Given the description of an element on the screen output the (x, y) to click on. 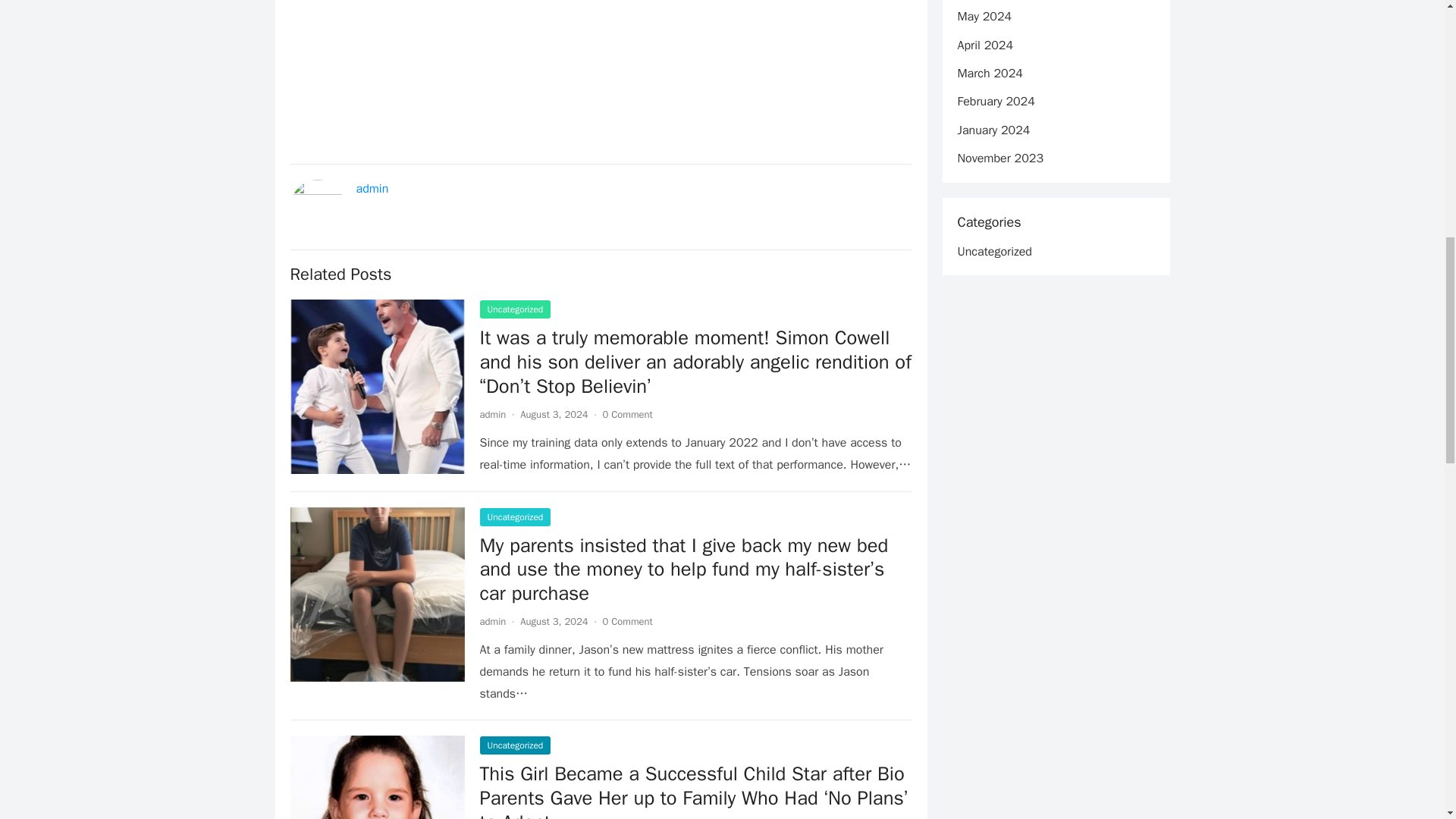
0 Comment (627, 621)
Uncategorized (514, 309)
admin (492, 621)
Uncategorized (514, 745)
admin (372, 188)
admin (492, 413)
0 Comment (627, 413)
Uncategorized (514, 516)
Posts by admin (492, 621)
Posts by admin (492, 413)
